Given the description of an element on the screen output the (x, y) to click on. 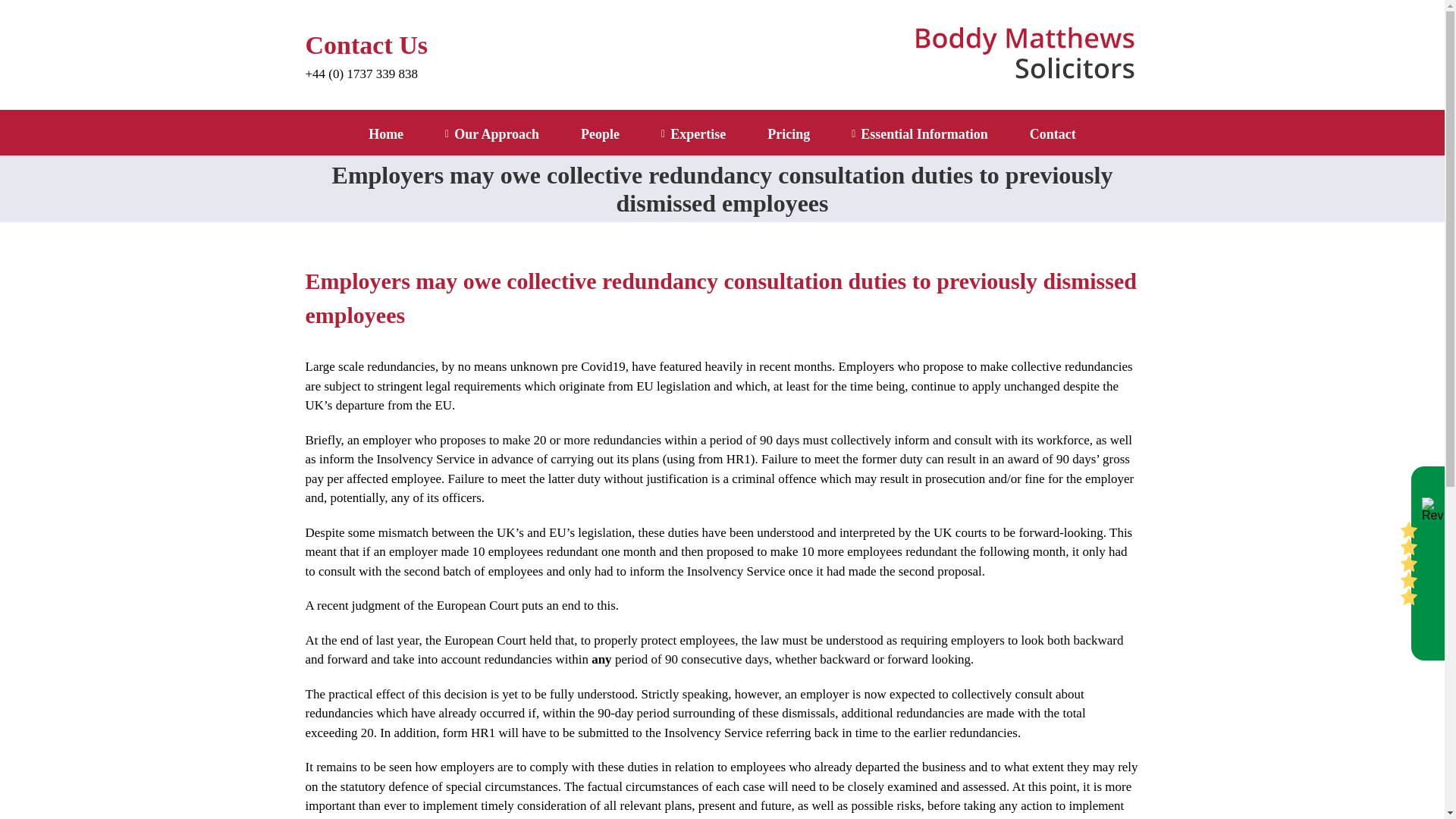
Our Approach (491, 132)
Expertise (693, 132)
Pricing (788, 132)
Contact (1052, 132)
Essential Information (919, 132)
